Given the description of an element on the screen output the (x, y) to click on. 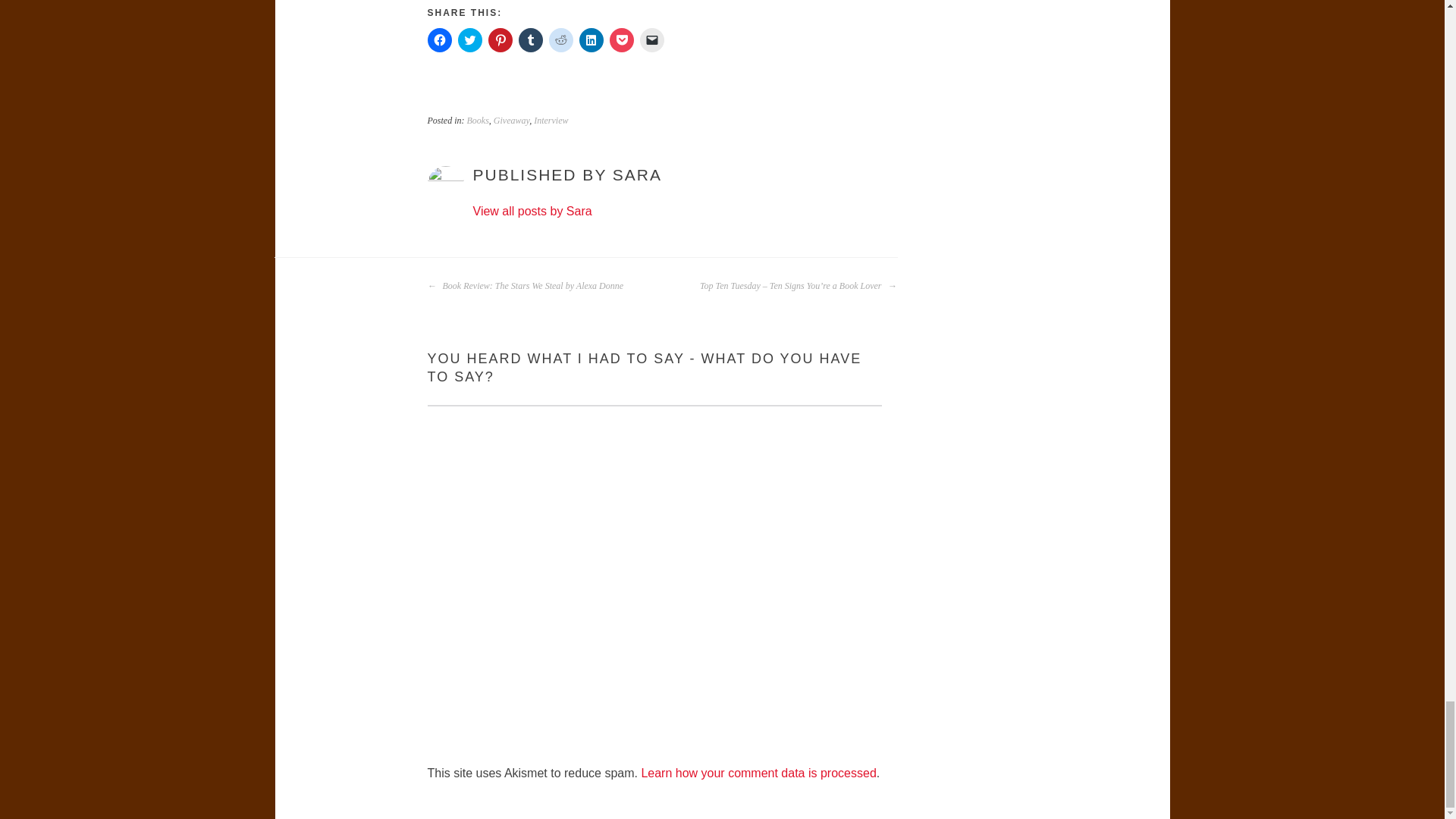
Click to share on Twitter (469, 39)
Click to share on Pocket (621, 39)
Click to share on Tumblr (530, 39)
Click to share on Reddit (560, 39)
Click to share on Facebook (439, 39)
Click to share on LinkedIn (591, 39)
Click to email a link to a friend (651, 39)
Click to share on Pinterest (499, 39)
